Given the description of an element on the screen output the (x, y) to click on. 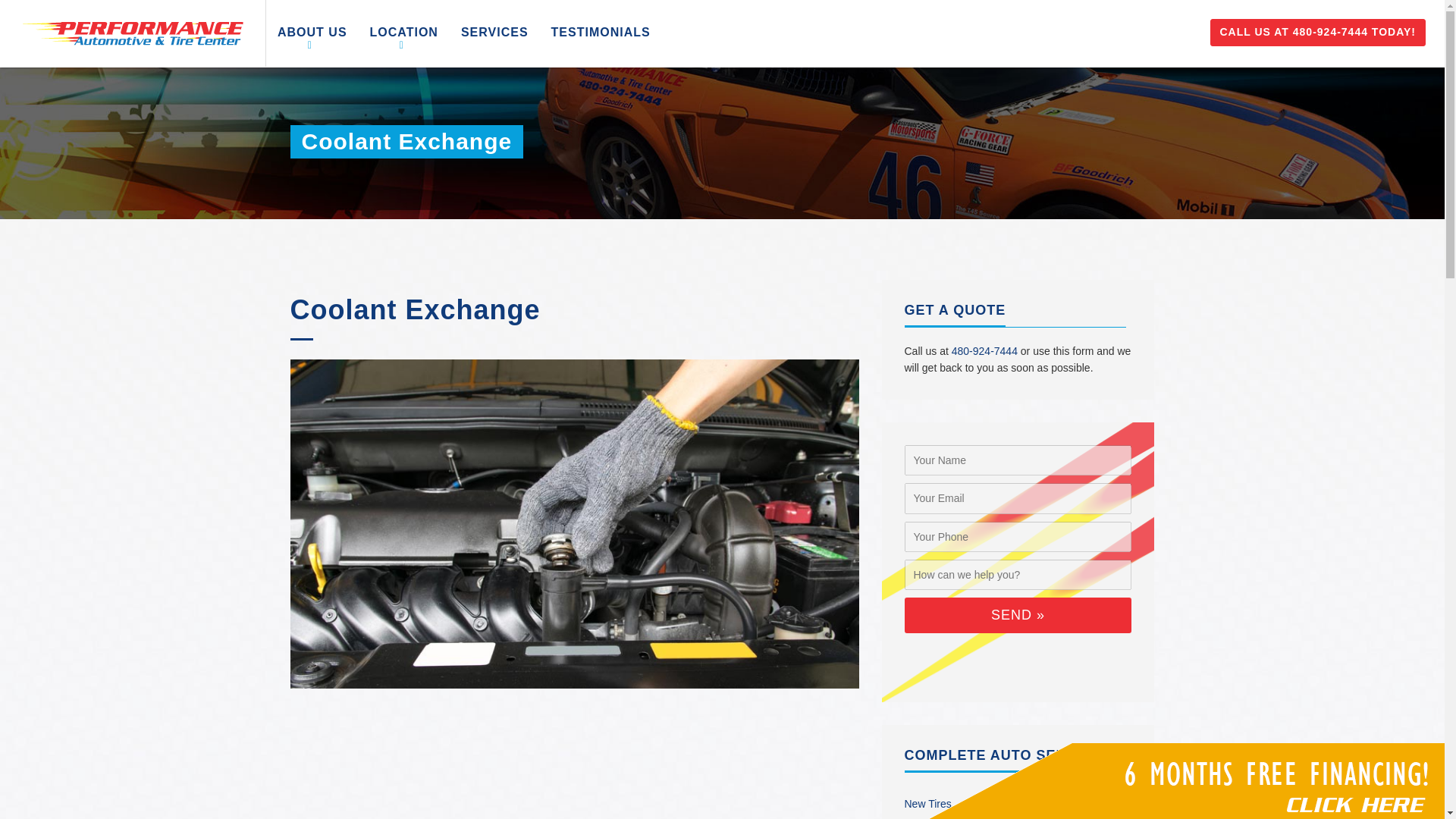
480-924-7444 (984, 350)
TESTIMONIALS (601, 33)
LOCATION (403, 33)
New Tires (927, 803)
Coolant Exchange (414, 309)
CALL US AT 480-924-7444 TODAY! (1317, 31)
SERVICES (494, 33)
ABOUT US (312, 33)
